Given the description of an element on the screen output the (x, y) to click on. 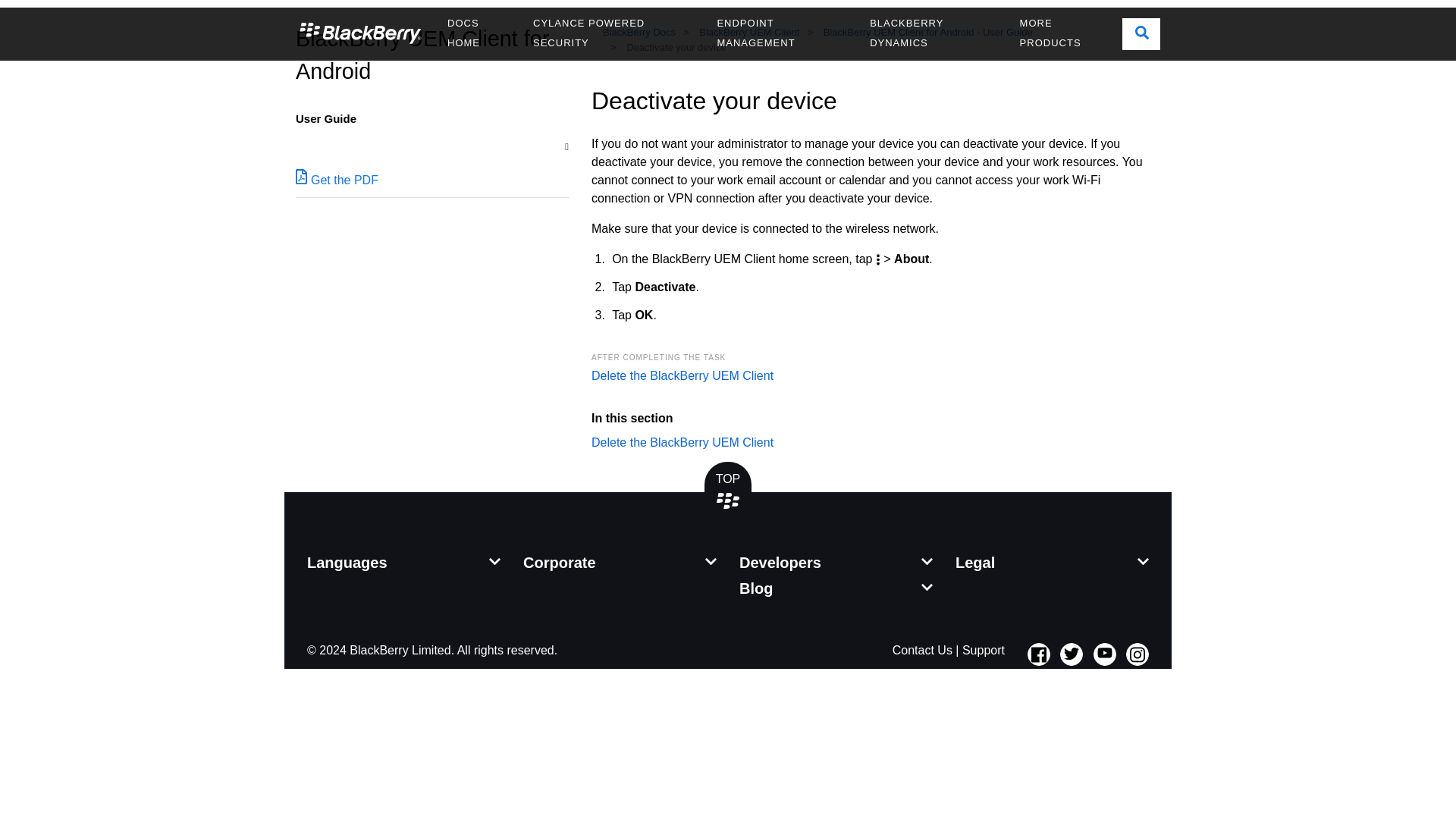
MORE PRODUCTS (1065, 33)
CYLANCE POWERED SECURITY (612, 33)
DOCS HOME (478, 33)
BLACKBERRY DYNAMICS (933, 33)
ENDPOINT MANAGEMENT (781, 33)
